Given the description of an element on the screen output the (x, y) to click on. 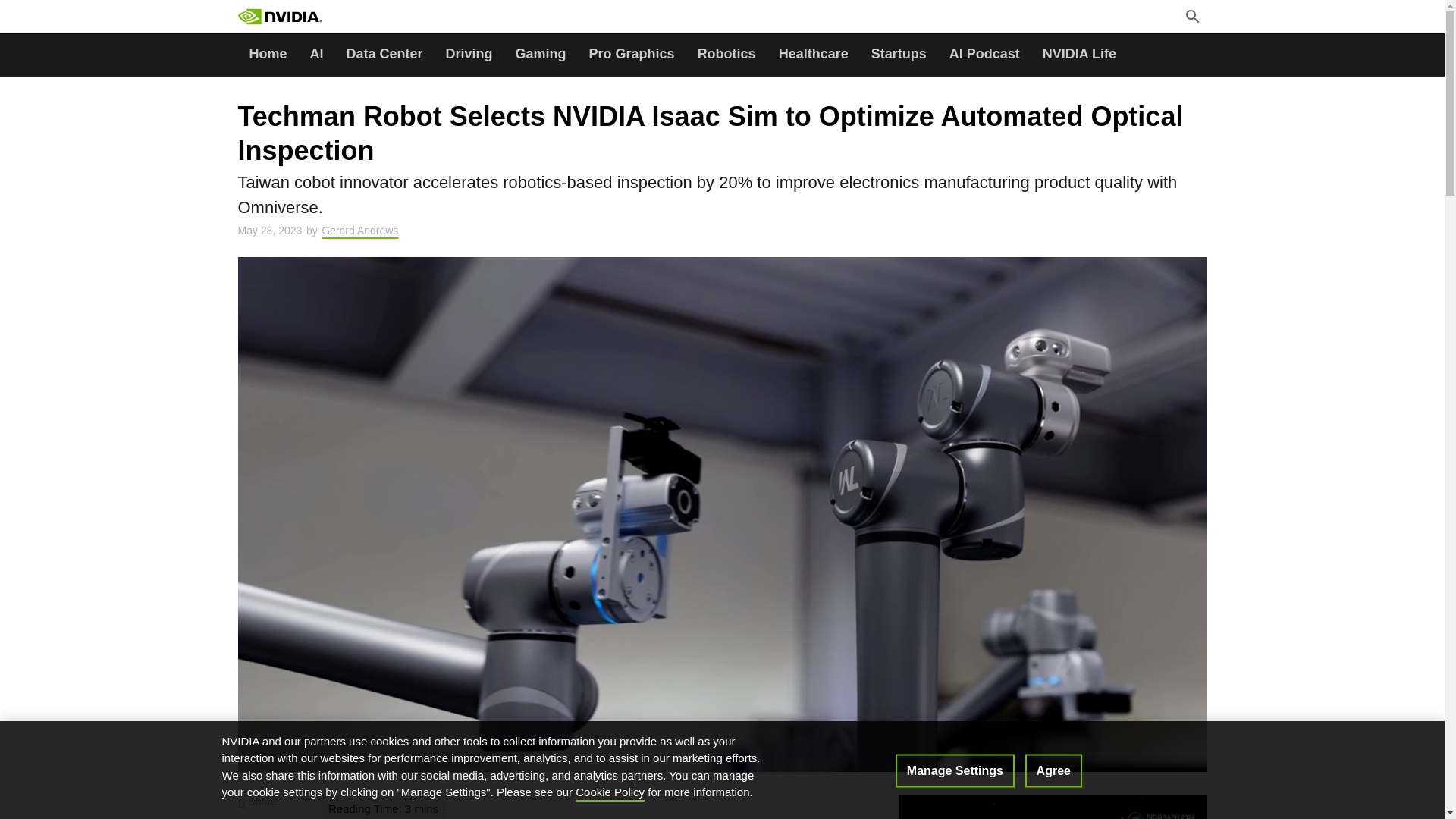
Gaming (540, 55)
Home (268, 55)
AI Podcast (983, 55)
Search (374, 18)
Data Center (383, 55)
Artificial Intelligence Computing Leadership from NVIDIA (279, 16)
View all posts by Gerard Andrews (359, 230)
Healthcare (813, 55)
Pro Graphics (631, 55)
Driving (468, 55)
Gerard Andrews (359, 230)
Startups (898, 55)
NVIDIA Life (1078, 55)
Artificial Intelligence Computing Leadership from NVIDIA (314, 16)
Robotics (726, 55)
